Given the description of an element on the screen output the (x, y) to click on. 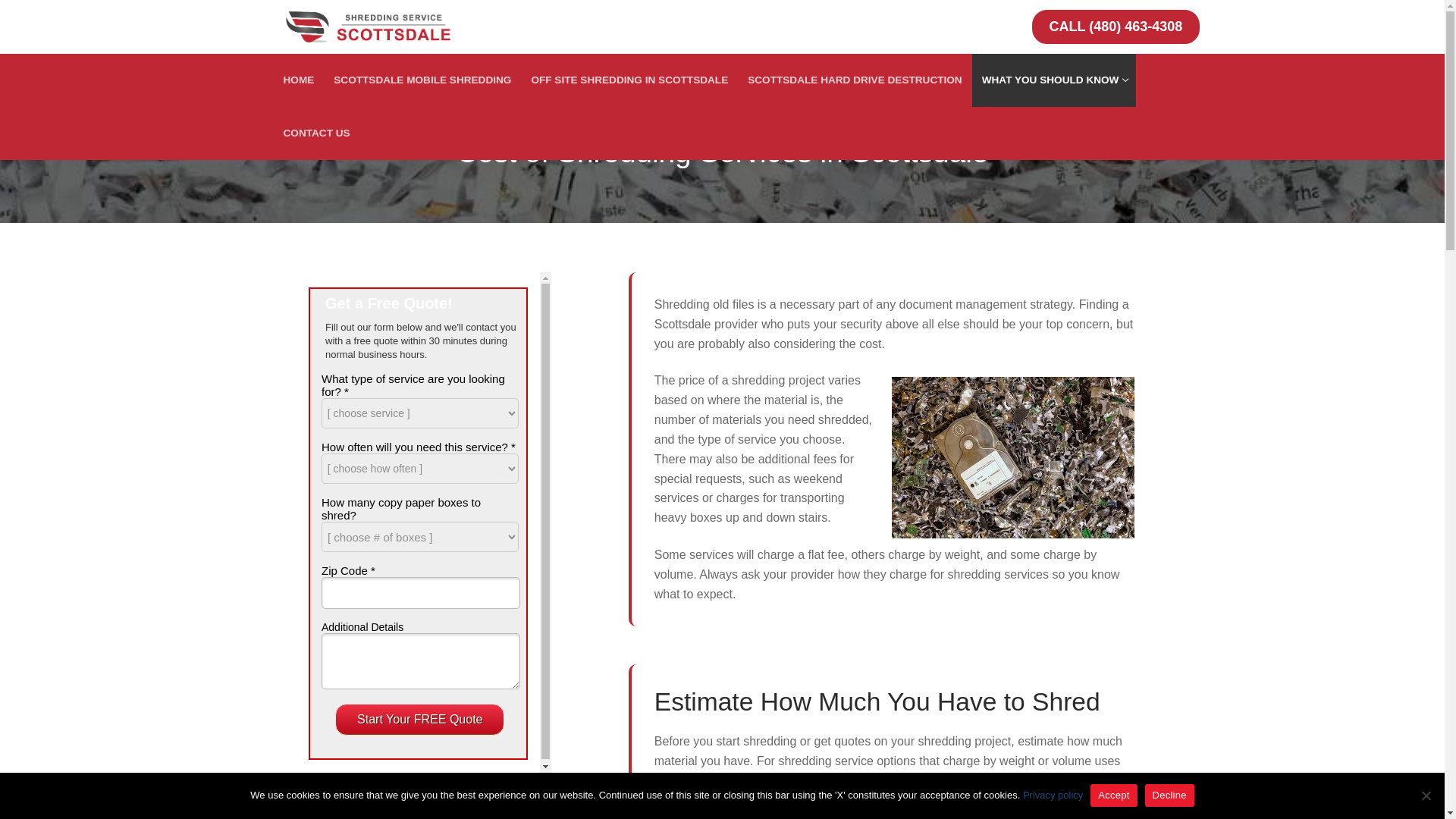
SCOTTSDALE HARD DRIVE DESTRUCTION (854, 80)
HOME (298, 80)
SCOTTSDALE MOBILE SHREDDING (1054, 80)
OFF SITE SHREDDING IN SCOTTSDALE (422, 80)
Decline (629, 80)
CONTACT US (1425, 795)
Privacy policy (316, 133)
Decline (1053, 794)
Accept (1168, 794)
